Given the description of an element on the screen output the (x, y) to click on. 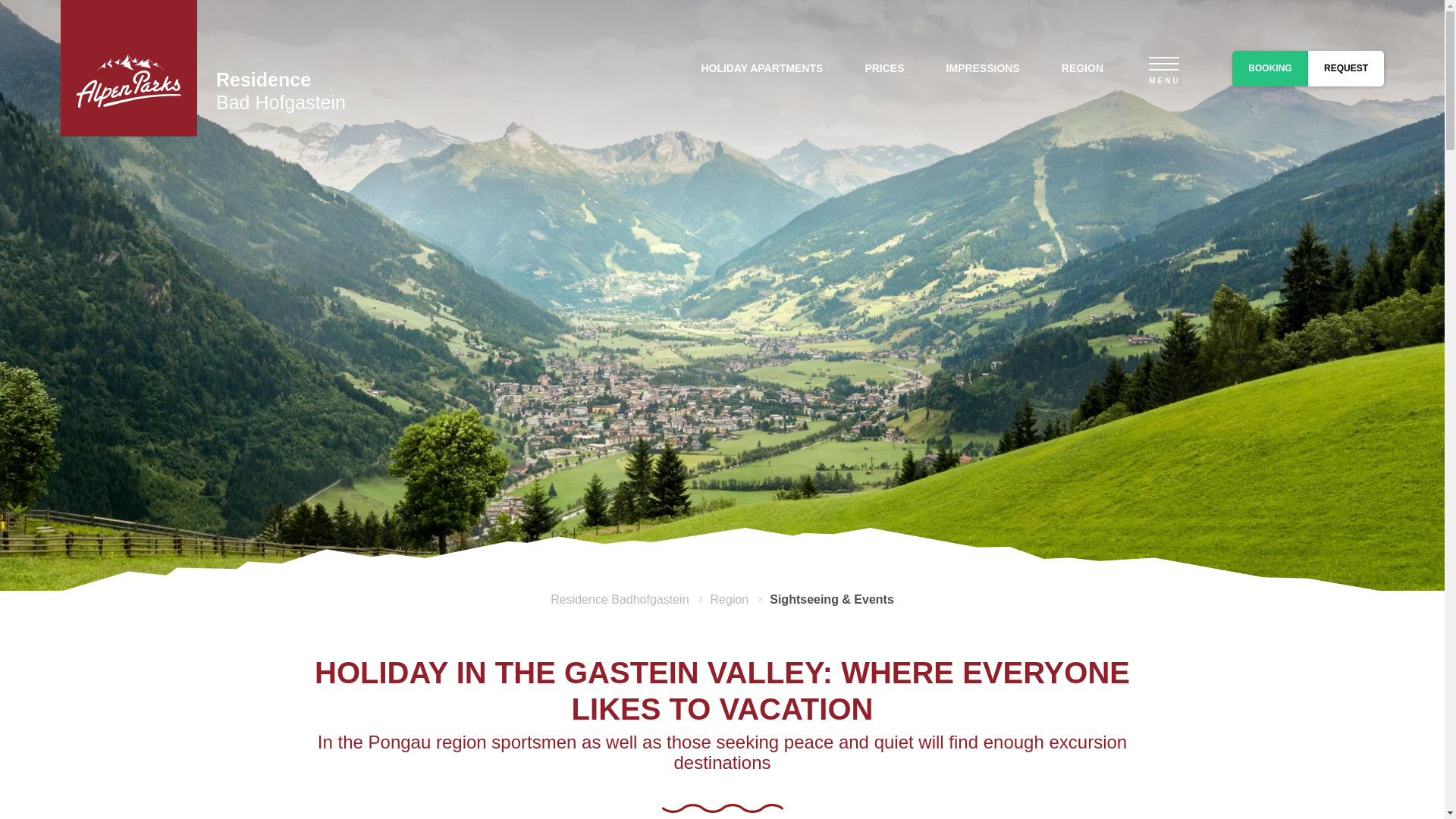
PRICES (884, 68)
IMPRESSIONS (983, 68)
REGION (1082, 68)
HOLIDAY APARTMENTS (761, 68)
REQUEST (1345, 67)
